Given the description of an element on the screen output the (x, y) to click on. 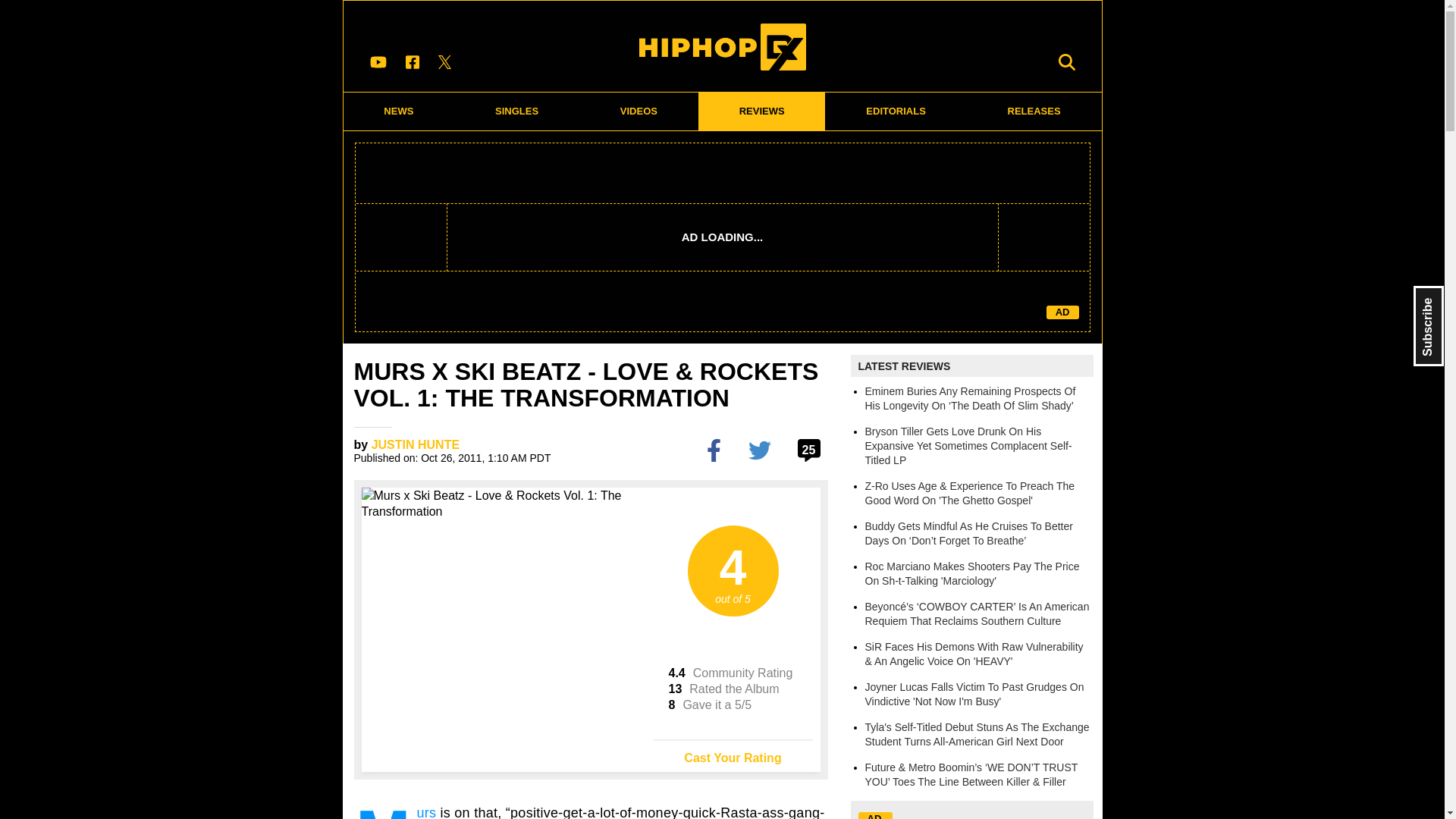
REVIEWS (761, 111)
Murs (425, 812)
VIDEOS (638, 111)
Cast Your Rating (732, 751)
25 (810, 449)
SINGLES (516, 111)
NEWS (398, 111)
EDITORIALS (895, 111)
RELEASES (1034, 111)
JUSTIN HUNTE (415, 444)
